Given the description of an element on the screen output the (x, y) to click on. 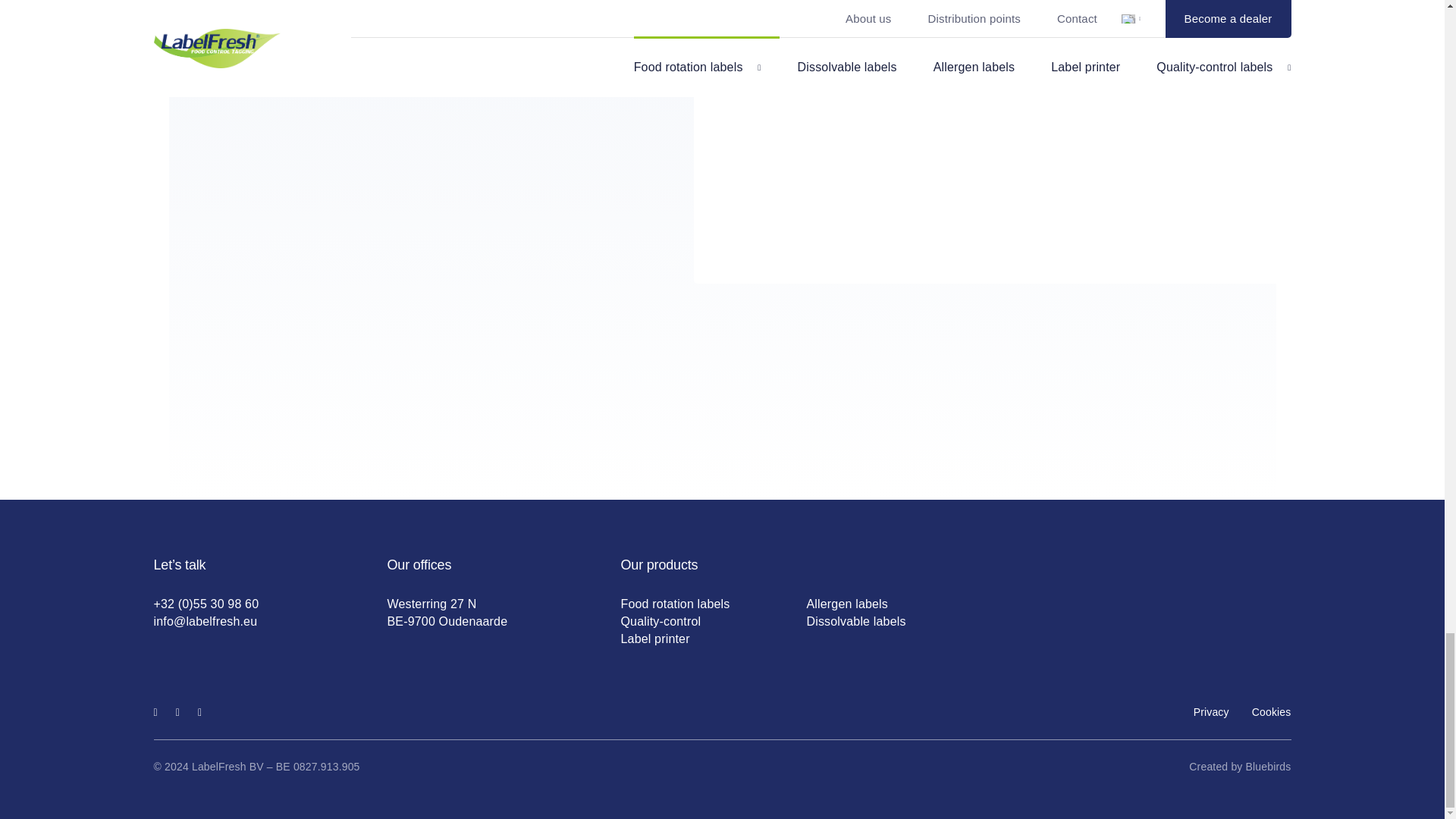
Allergen labels (847, 603)
Food rotation labels (674, 603)
Quality-control (660, 621)
Dissolvable labels (855, 621)
